Given the description of an element on the screen output the (x, y) to click on. 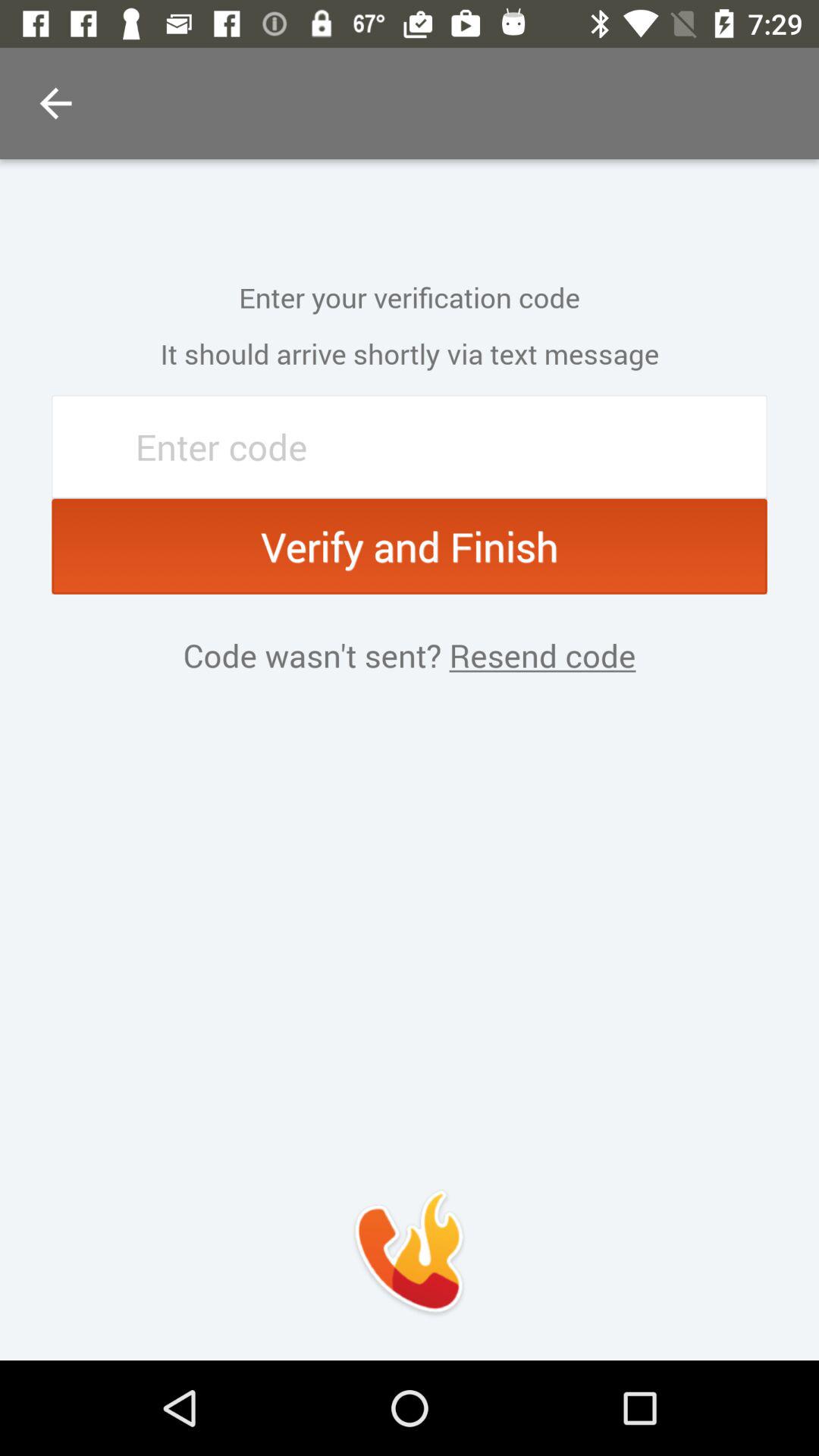
launch the resend code item (538, 655)
